Given the description of an element on the screen output the (x, y) to click on. 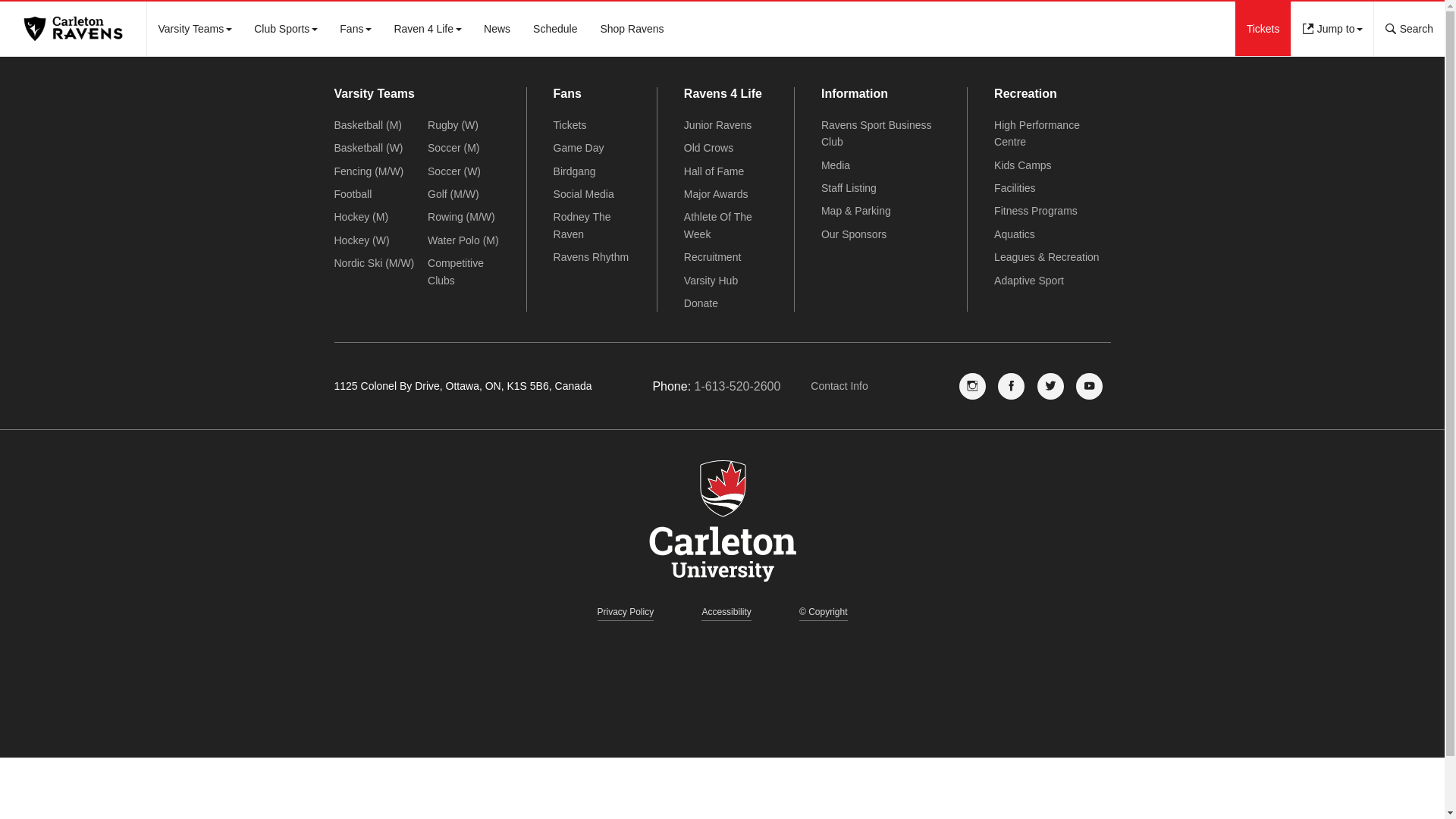
Skip to main content (355, 28)
